Given the description of an element on the screen output the (x, y) to click on. 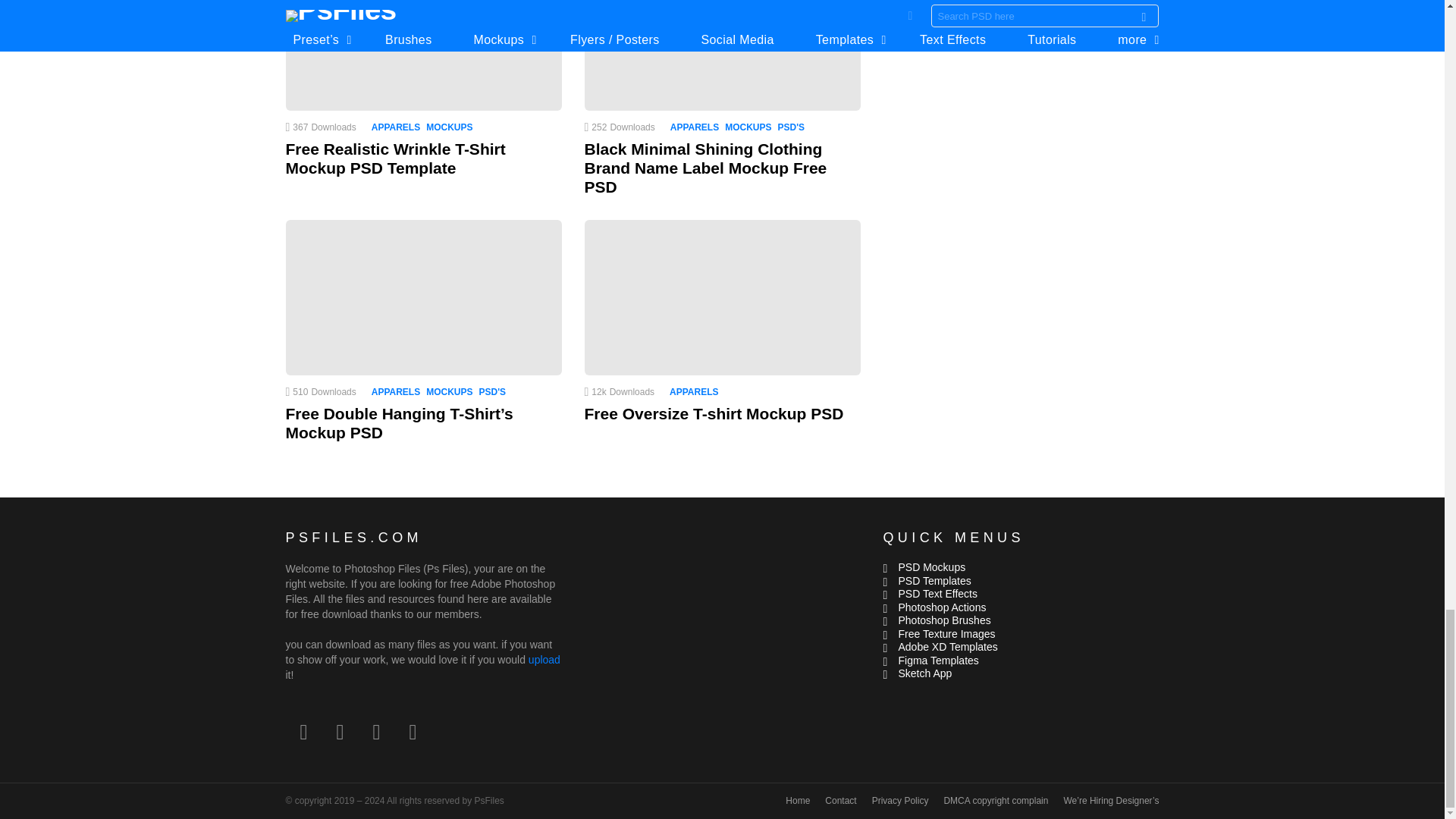
Free Realistic Wrinkle T-Shirt Mockup PSD Template (422, 55)
Free Oversize T-shirt Mockup PSD (721, 297)
